Given the description of an element on the screen output the (x, y) to click on. 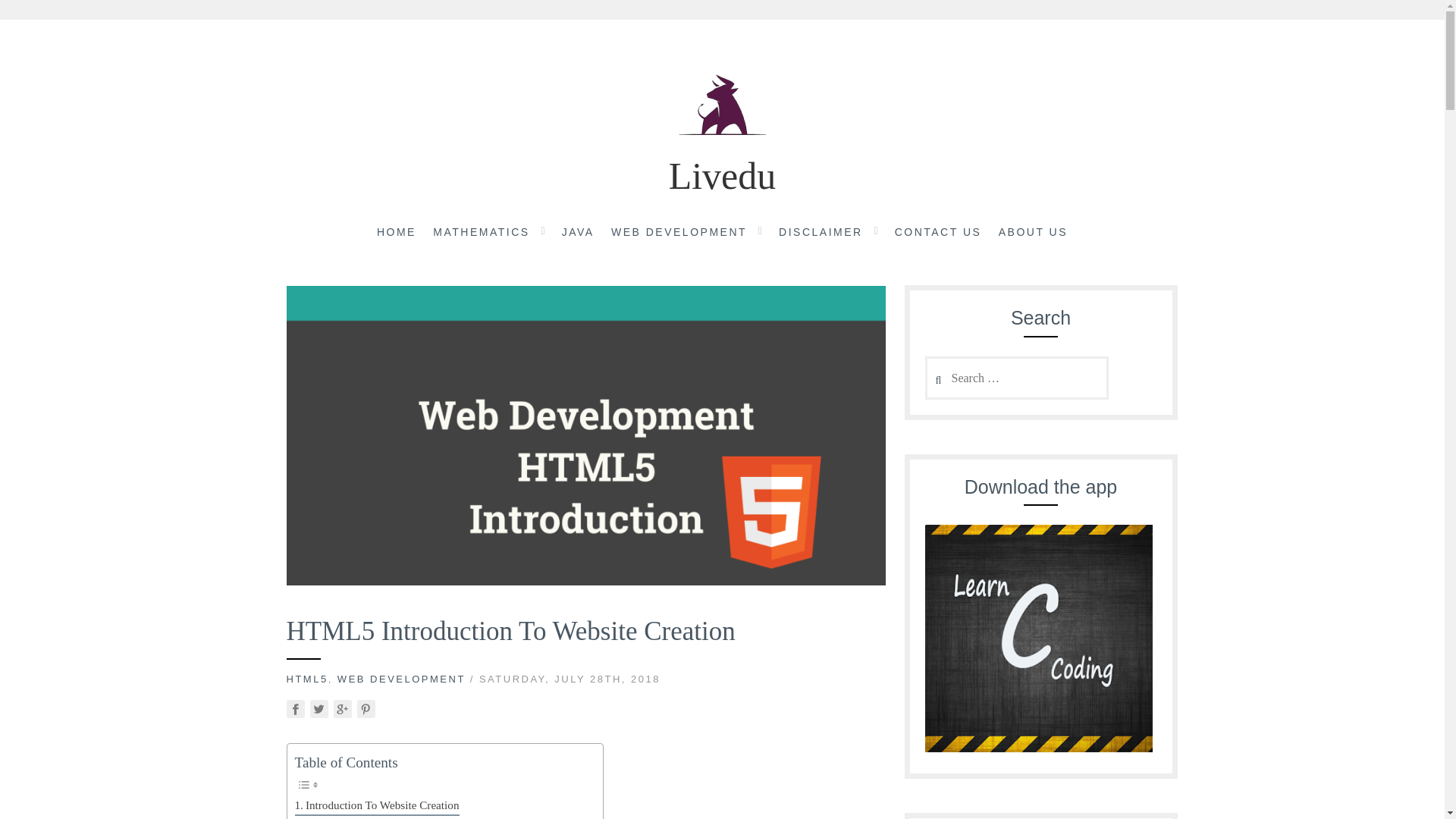
DISCLAIMER (820, 233)
WEB DEVELOPMENT (678, 233)
ABOUT US (1032, 233)
Introduction To Website Creation (376, 805)
HTML5 (307, 678)
HOME (396, 233)
WEB DEVELOPMENT (401, 678)
JAVA (578, 233)
Livedu (722, 175)
MATHEMATICS (480, 233)
